Given the description of an element on the screen output the (x, y) to click on. 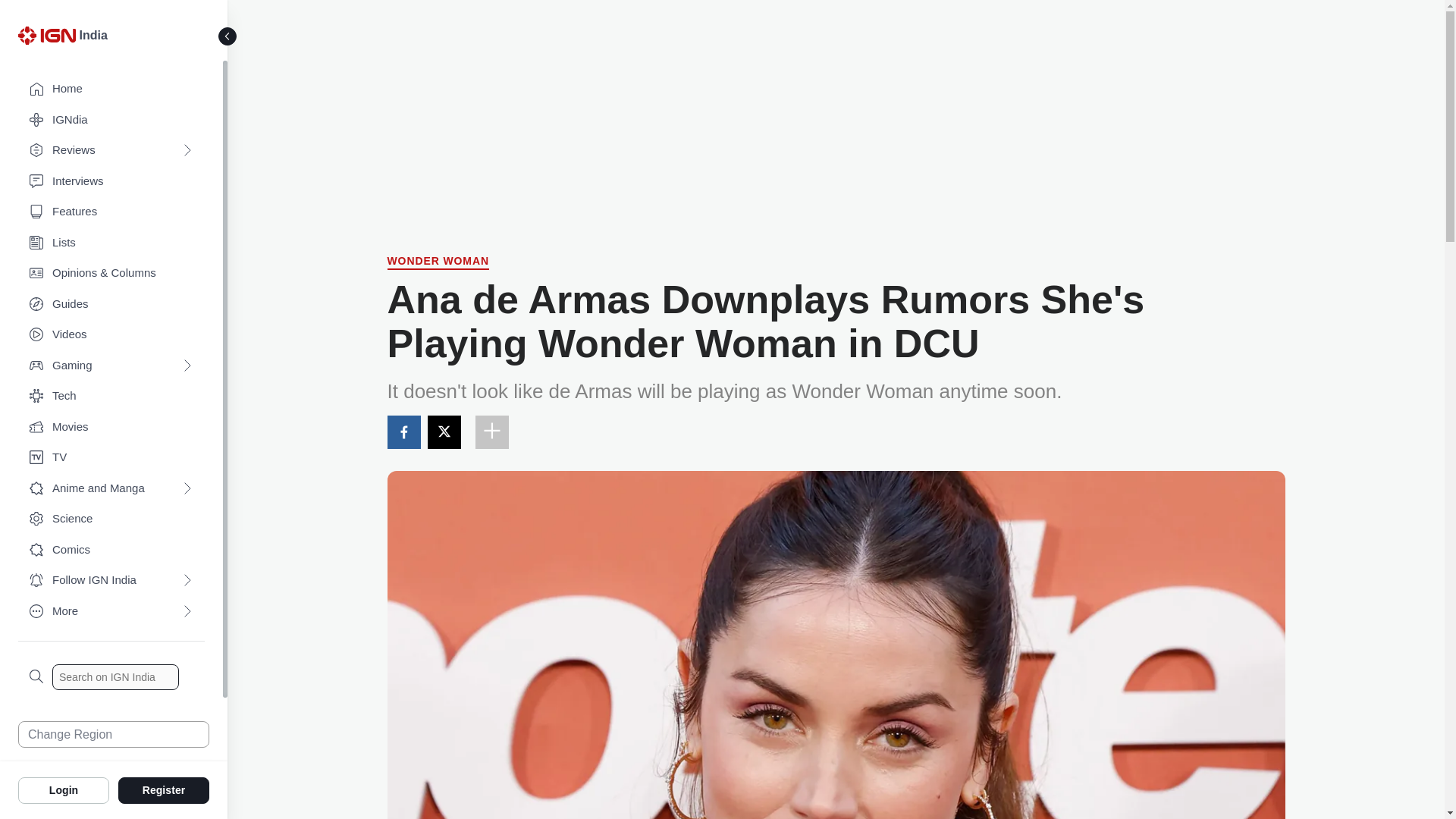
Toggle Sidebar (226, 36)
Guides (111, 304)
IGN Logo (48, 39)
IGN Logo (46, 34)
Movies (111, 427)
TV (111, 457)
Videos (111, 334)
Lists (111, 242)
Home (111, 89)
Follow IGN India (111, 580)
